Given the description of an element on the screen output the (x, y) to click on. 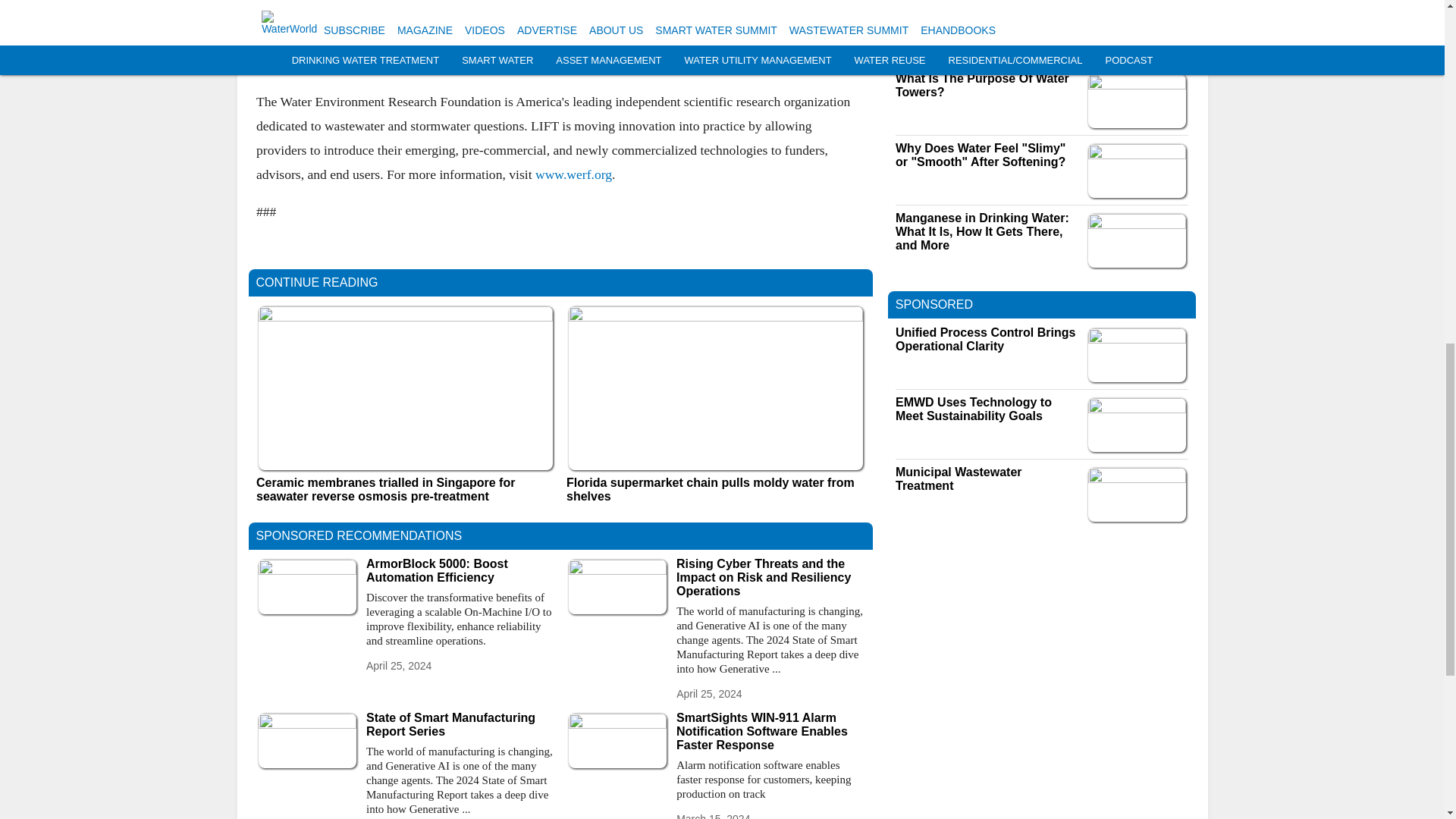
ArmorBlock 5000: Boost Automation Efficiency (459, 570)
www.werf.org (572, 173)
Florida supermarket chain pulls moldy water from shelves (715, 489)
